Given the description of an element on the screen output the (x, y) to click on. 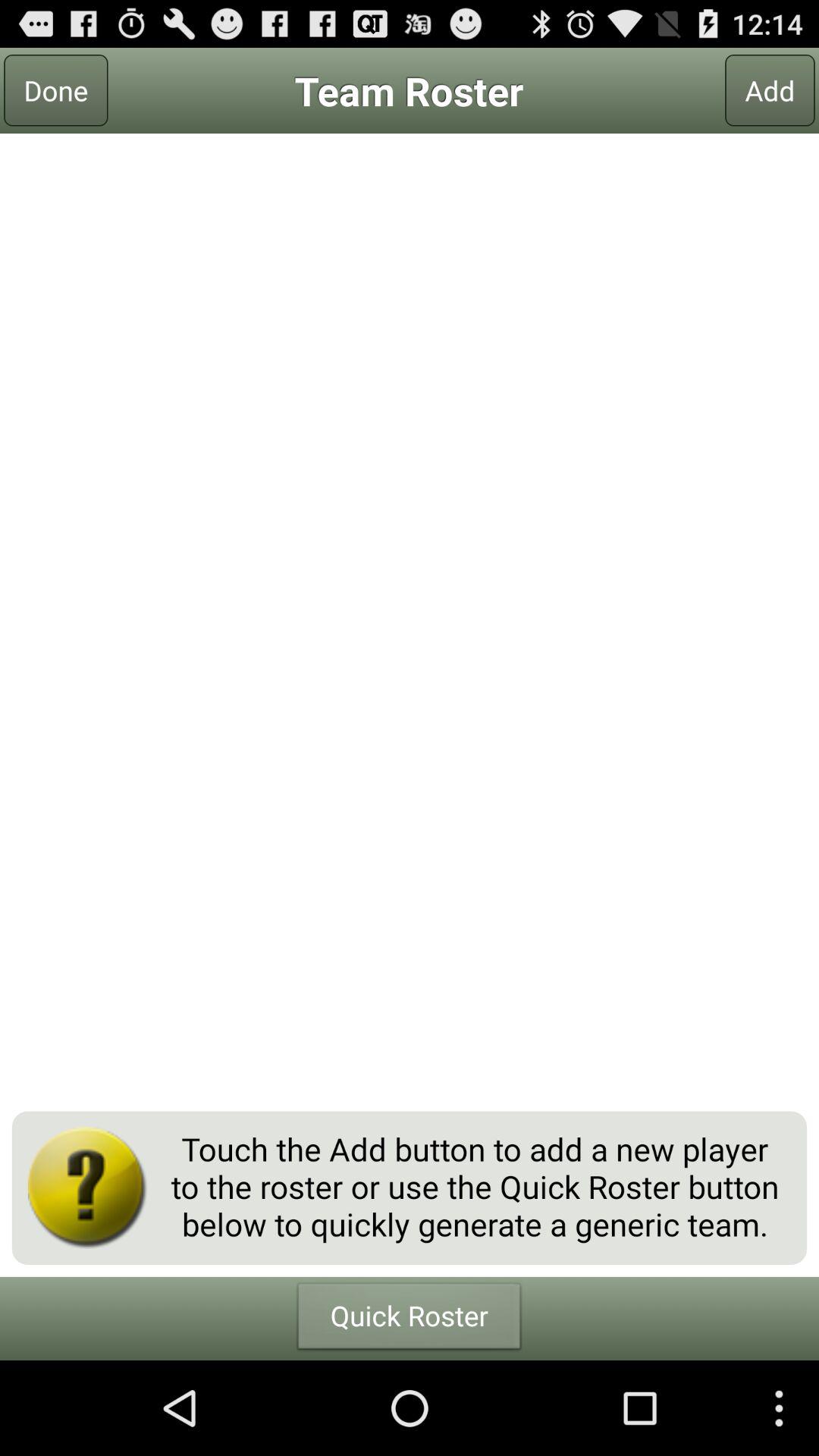
press app to the left of team roster item (55, 90)
